Given the description of an element on the screen output the (x, y) to click on. 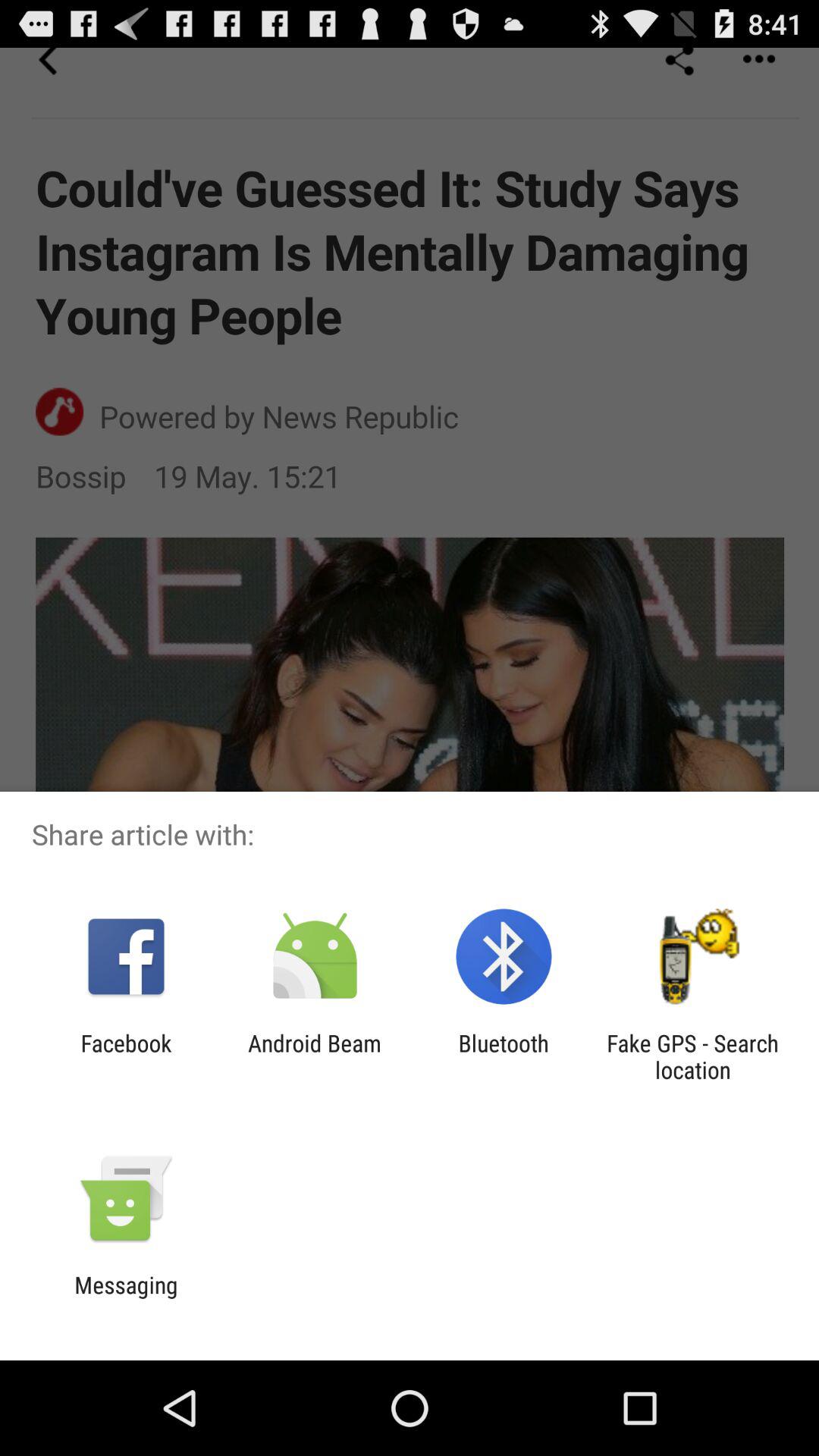
turn off the messaging item (126, 1298)
